Given the description of an element on the screen output the (x, y) to click on. 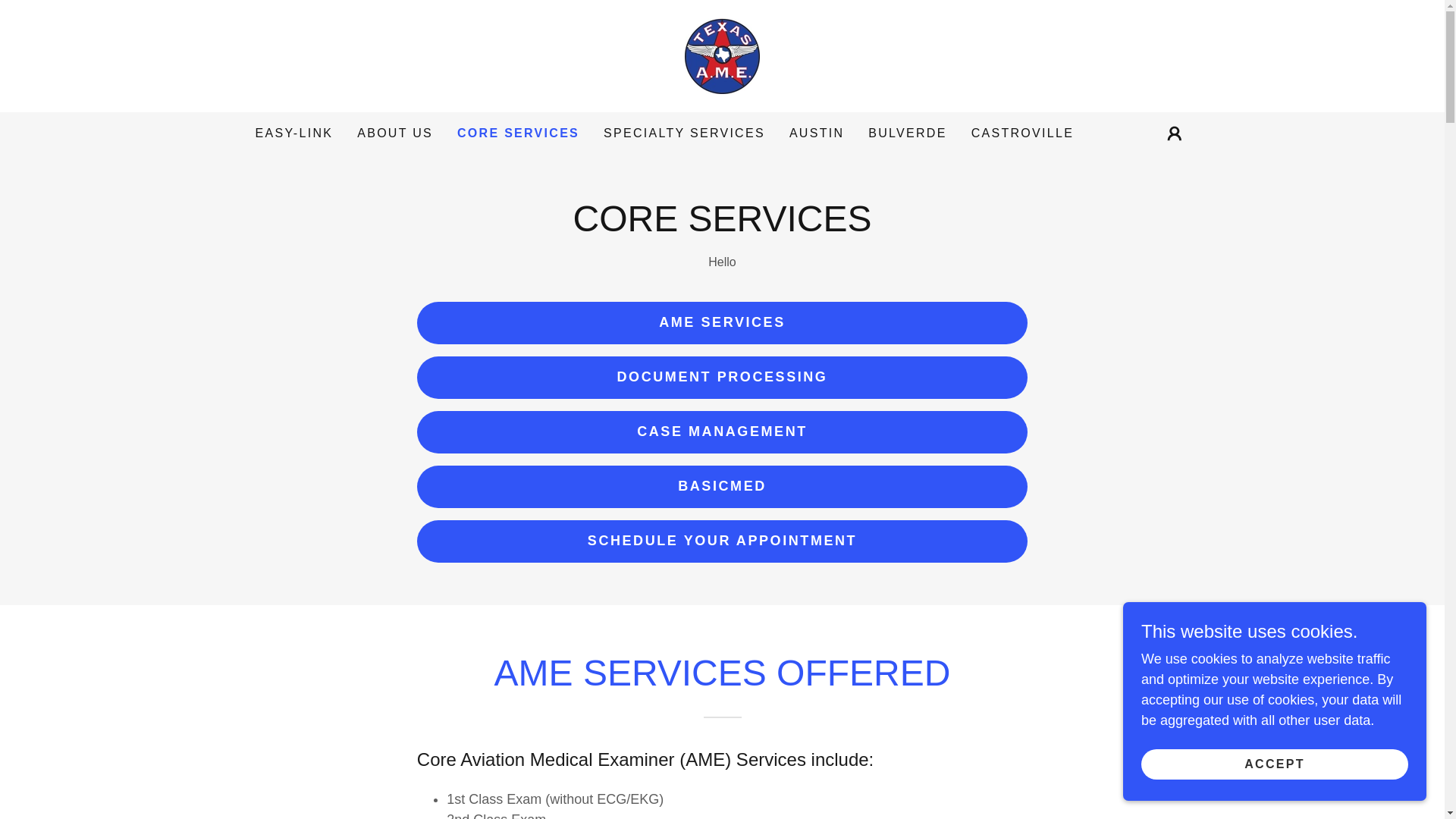
BULVERDE (906, 133)
ABOUT US (395, 133)
AME SERVICES (721, 322)
AUSTIN (816, 133)
DOCUMENT PROCESSING (721, 377)
SCHEDULE YOUR APPOINTMENT (721, 541)
CORE SERVICES (518, 133)
CASTROVILLE (1022, 133)
CASE MANAGEMENT (721, 432)
SPECIALTY SERVICES (684, 133)
BASICMED (721, 486)
EASY-LINK (293, 133)
